Given the description of an element on the screen output the (x, y) to click on. 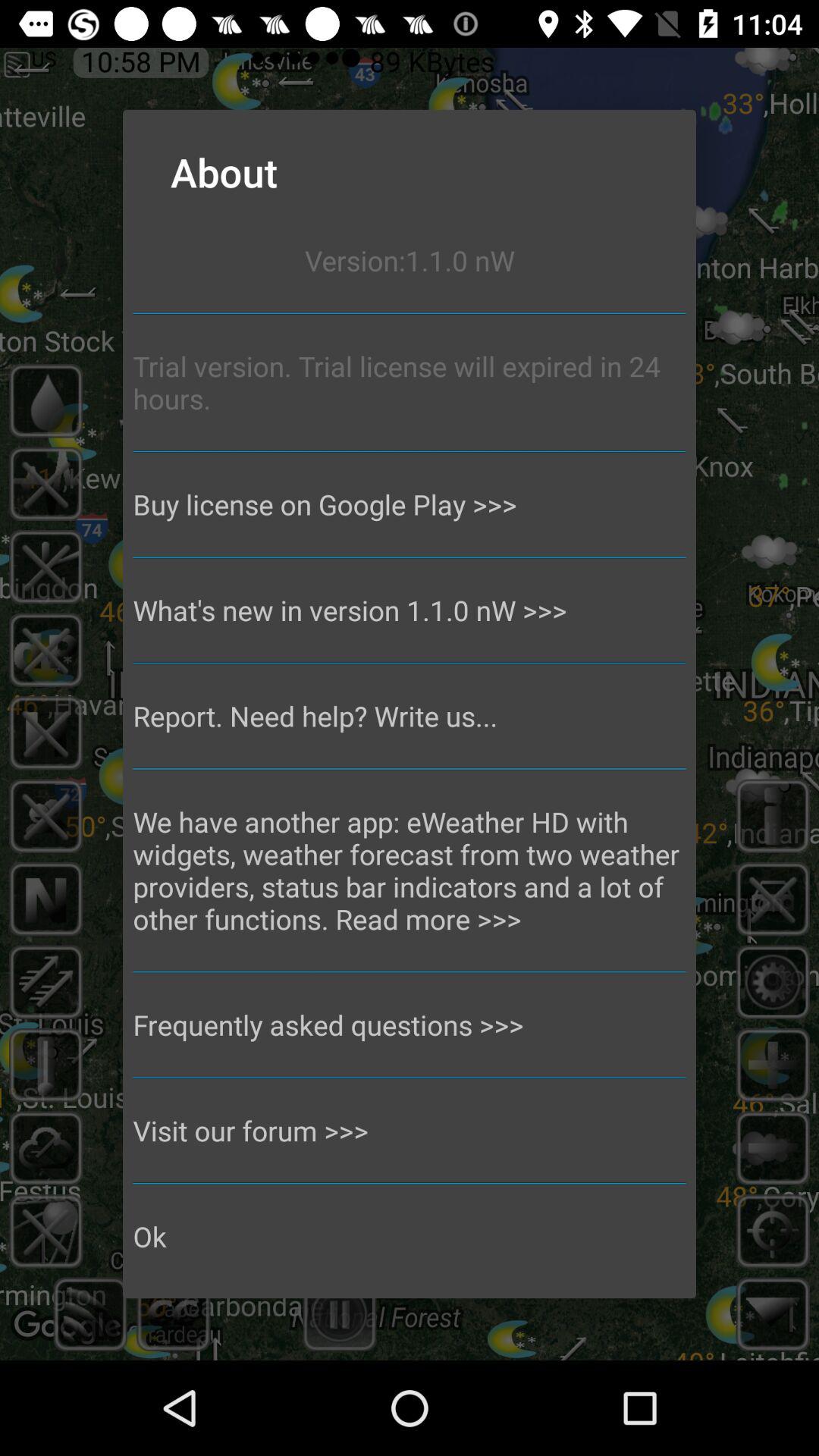
choose buy license on app (409, 504)
